Given the description of an element on the screen output the (x, y) to click on. 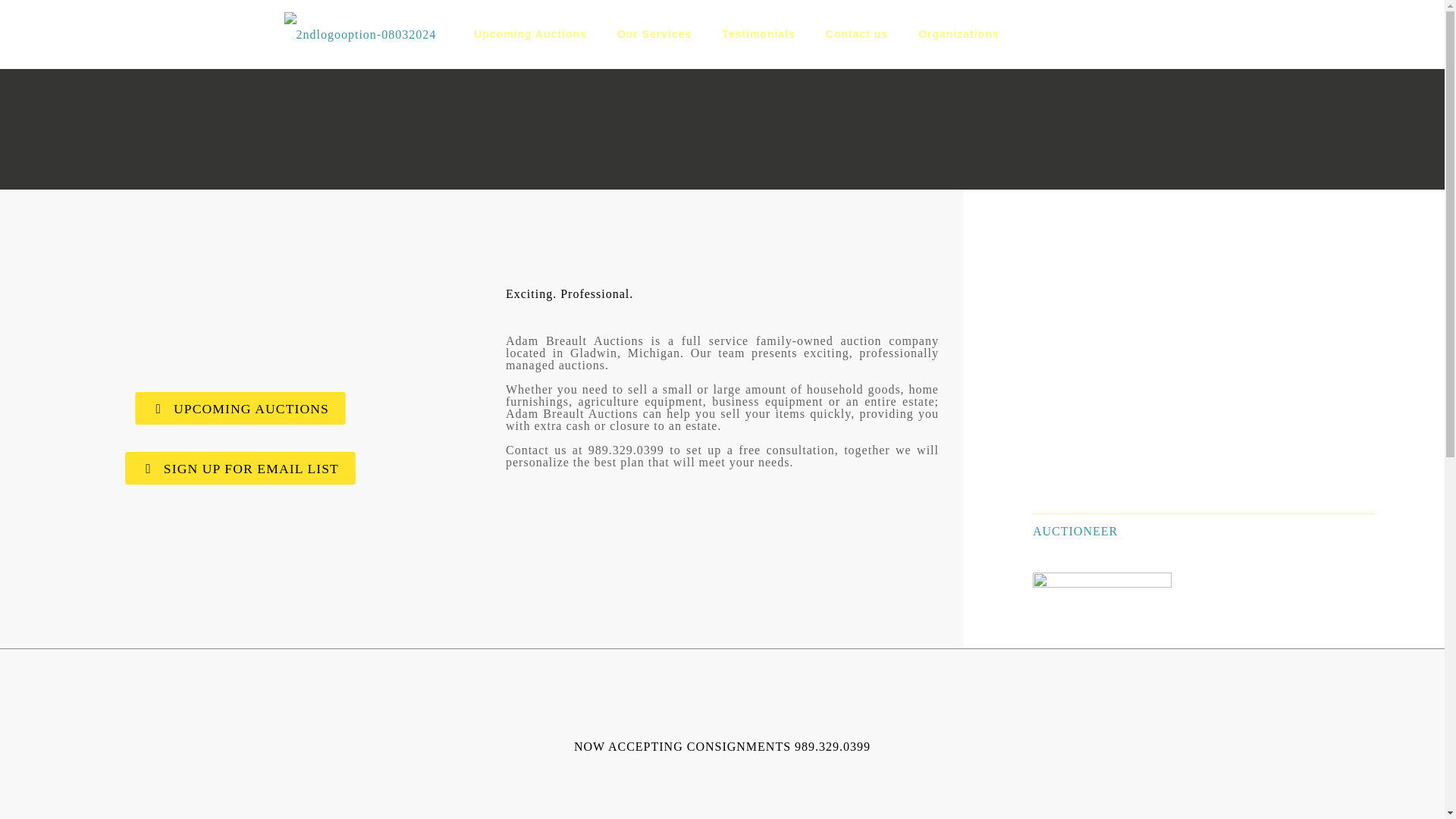
Organizations (957, 33)
Our Services (654, 33)
UPCOMING AUCTIONS (230, 406)
Testimonials (758, 33)
SIGN UP FOR EMAIL LIST (229, 466)
Upcoming Auctions (530, 33)
Adam Breault Auctions (359, 33)
Contact us (856, 33)
